Given the description of an element on the screen output the (x, y) to click on. 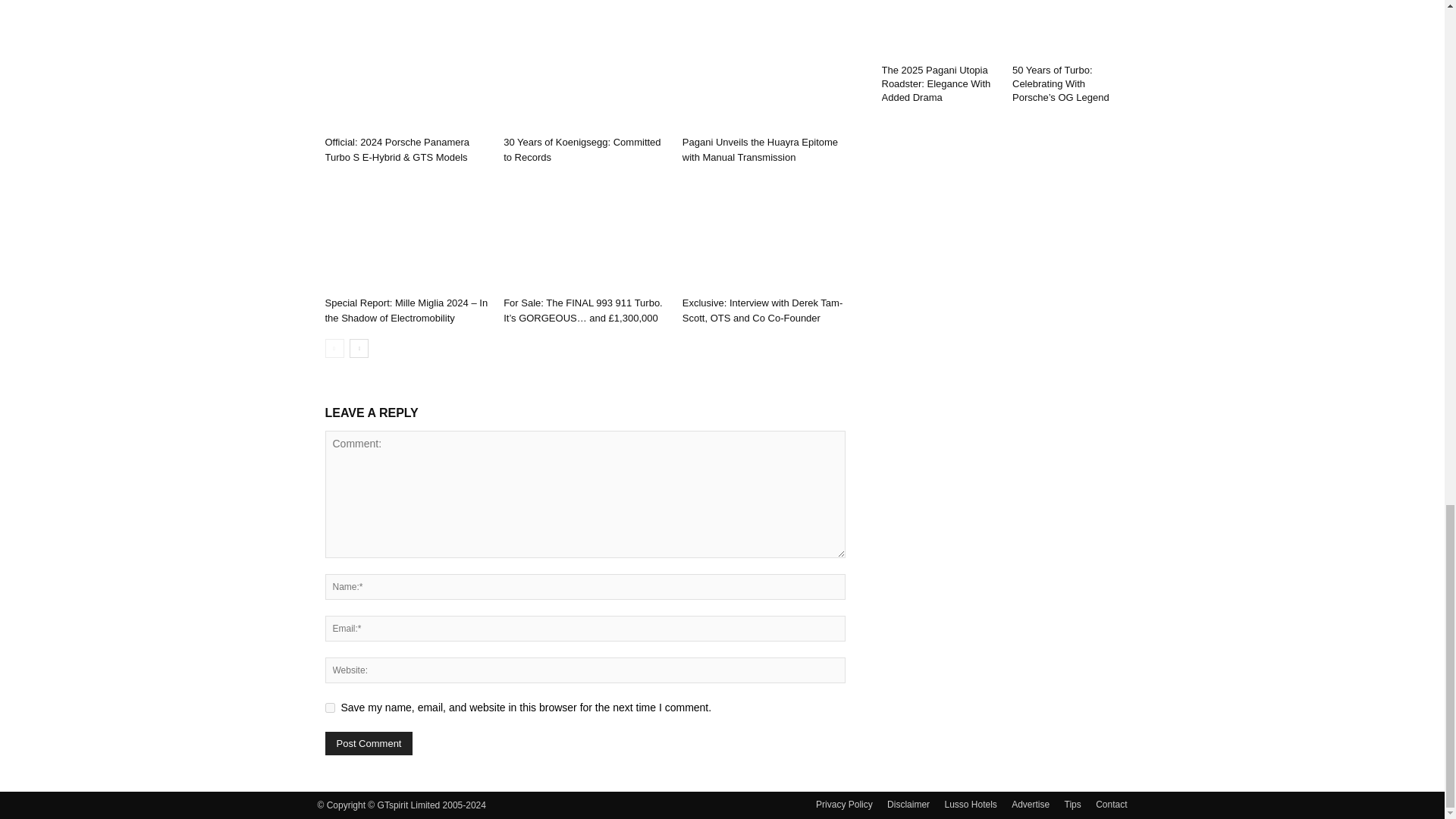
yes (329, 707)
Post Comment (368, 743)
